Given the description of an element on the screen output the (x, y) to click on. 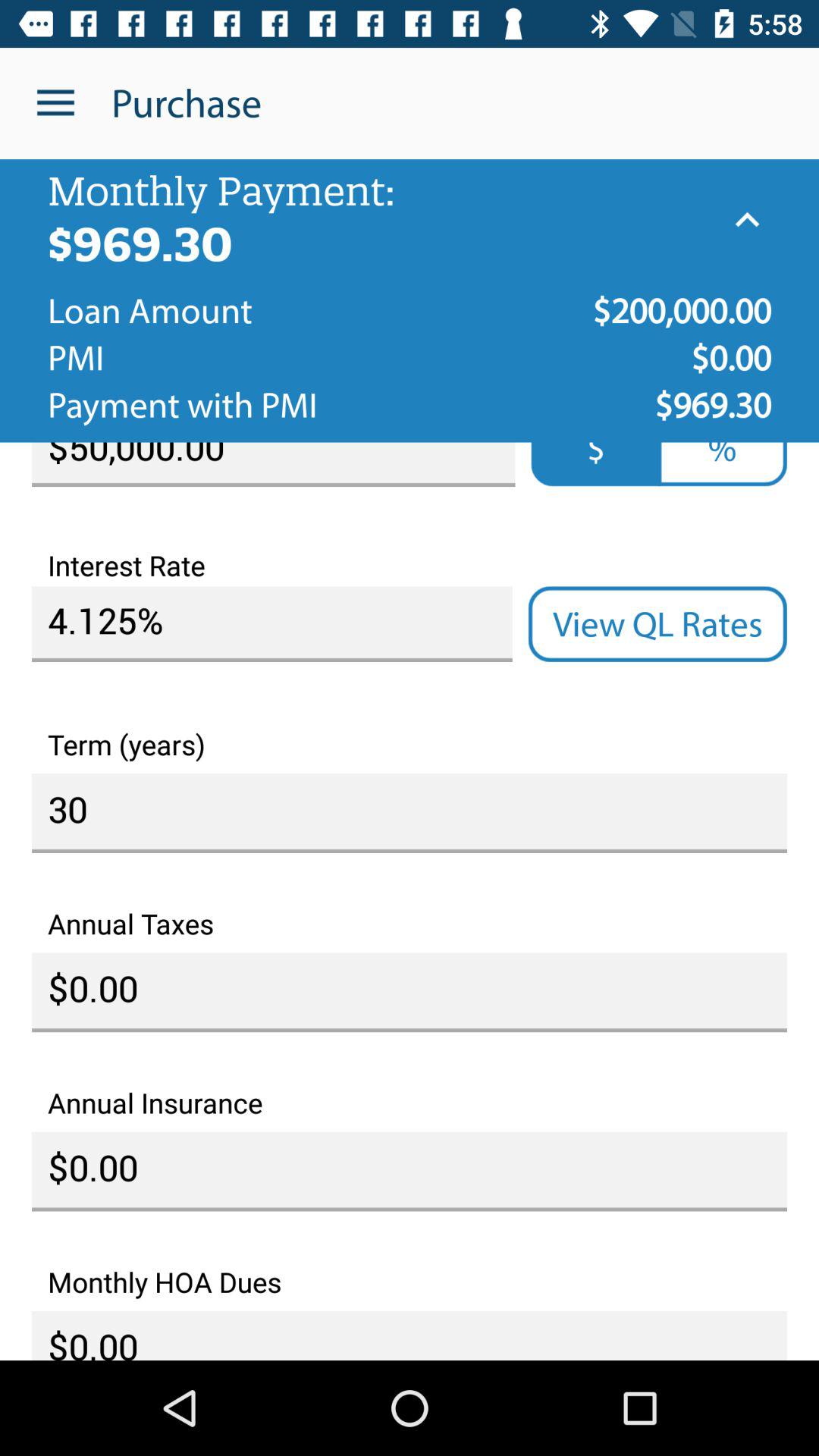
tap the icon next to purchase (55, 103)
